Given the description of an element on the screen output the (x, y) to click on. 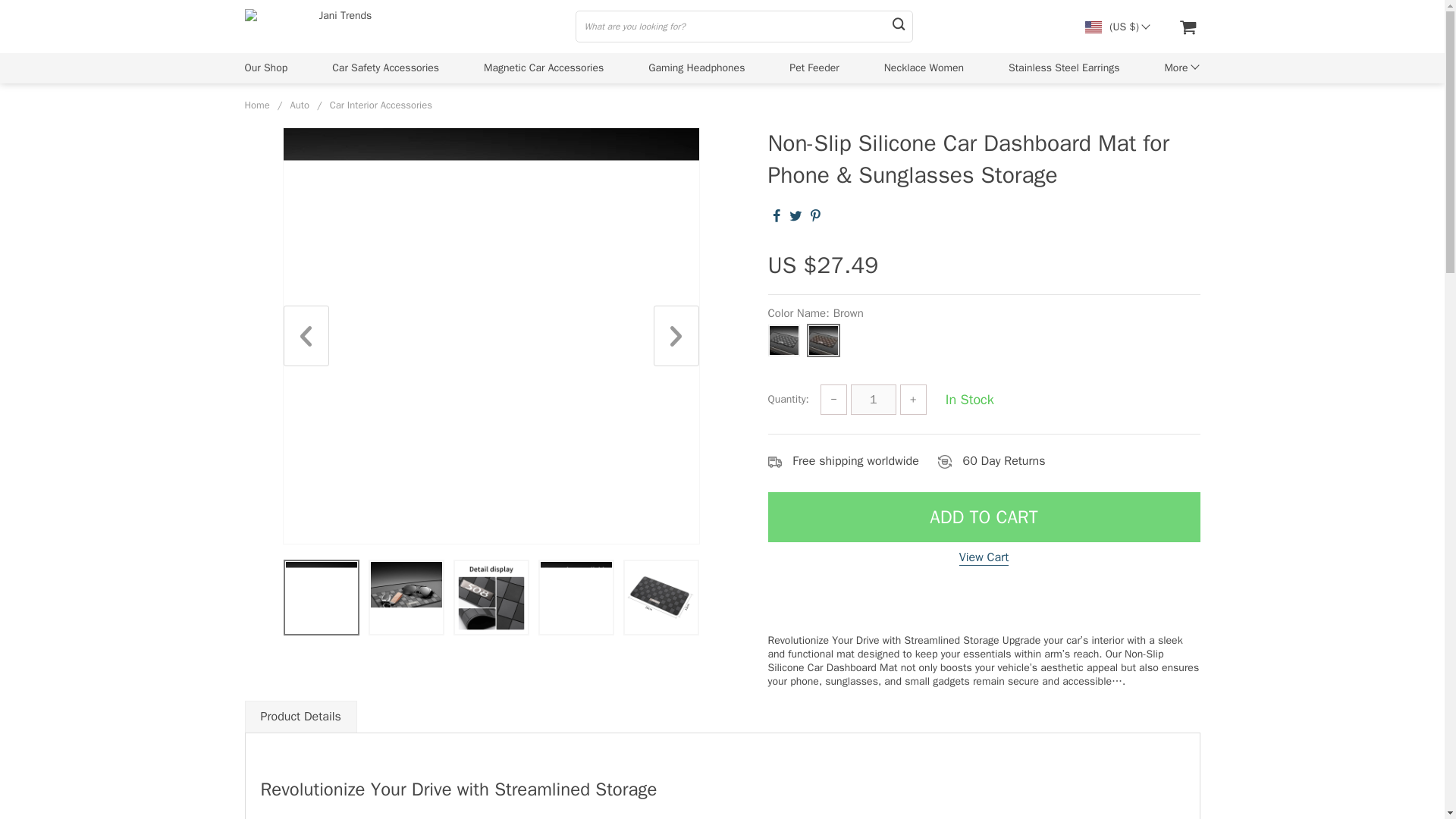
Necklace Women (923, 67)
Stainless Steel Earrings (1064, 67)
Car Interior Accessories (381, 104)
14595-c7207a.jpg (489, 597)
Our Shop (265, 67)
Magnetic Car Accessories (543, 67)
14595-6b12d8.jpg (405, 597)
Car Safety Accessories (385, 67)
Gaming Headphones (695, 67)
Black (782, 339)
Pet Feeder (813, 67)
1 (873, 399)
14595-78f850.jpg (575, 597)
Home (256, 105)
Brown (822, 339)
